Given the description of an element on the screen output the (x, y) to click on. 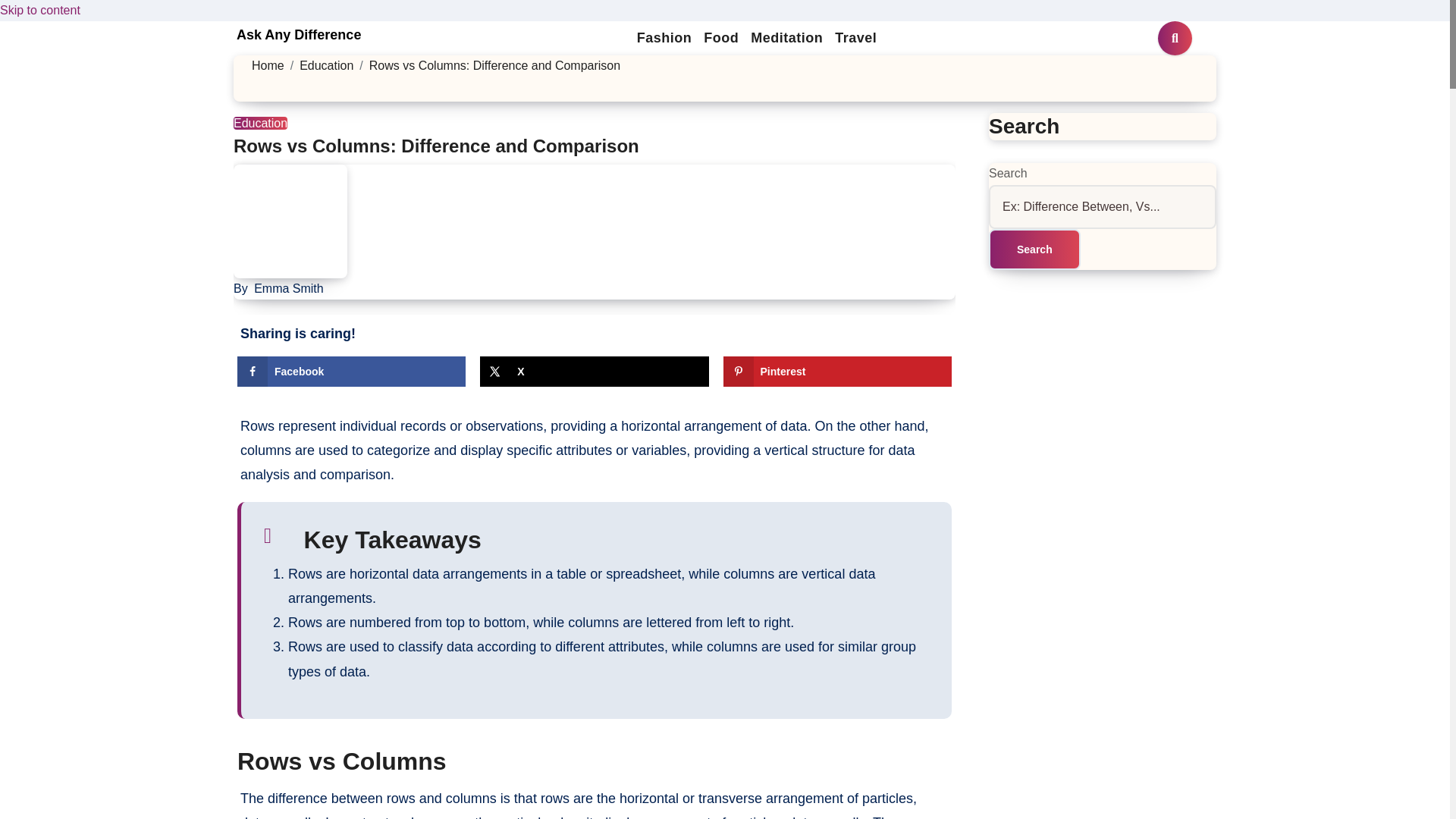
Meditation (786, 37)
Facebook (351, 371)
Ask Any Difference (298, 34)
Travel (855, 37)
Education (259, 123)
X (593, 371)
Fashion (664, 37)
Food (720, 37)
Skip to content (40, 10)
Emma Smith (288, 287)
